Given the description of an element on the screen output the (x, y) to click on. 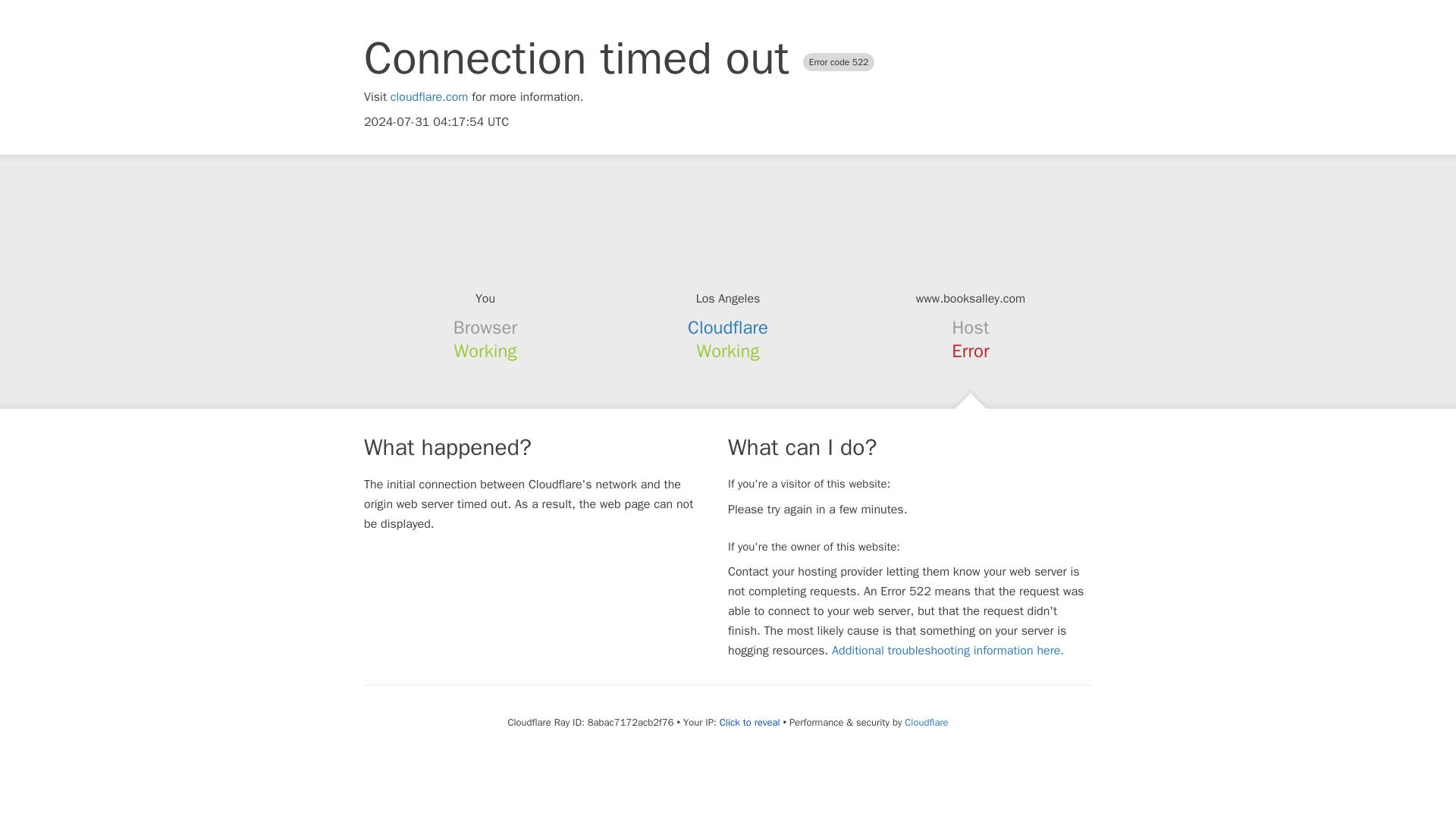
Additional troubleshooting information here. (947, 650)
cloudflare.com (429, 96)
Click to reveal (749, 722)
Cloudflare (925, 721)
Cloudflare (727, 327)
